Given the description of an element on the screen output the (x, y) to click on. 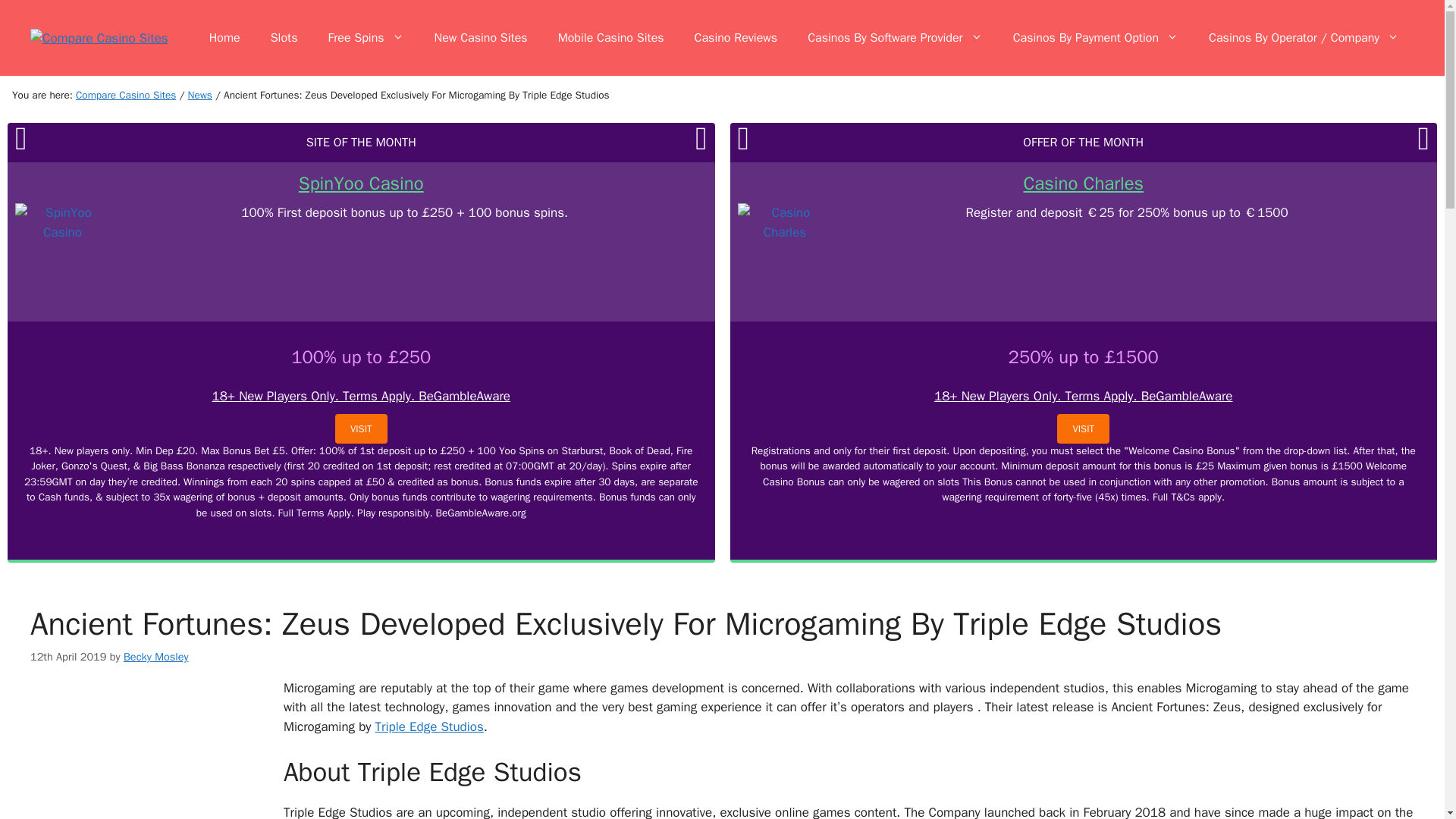
Item (199, 94)
Compare Casino Sites (125, 94)
Home (224, 37)
New Casino Sites (481, 37)
Casino Reviews (736, 37)
Casinos By Software Provider (894, 37)
News (199, 94)
Slots (284, 37)
Free Spins (366, 37)
Mobile Casino Sites (611, 37)
Casinos By Payment Option (1095, 37)
View all posts by Becky Mosley (156, 656)
